Given the description of an element on the screen output the (x, y) to click on. 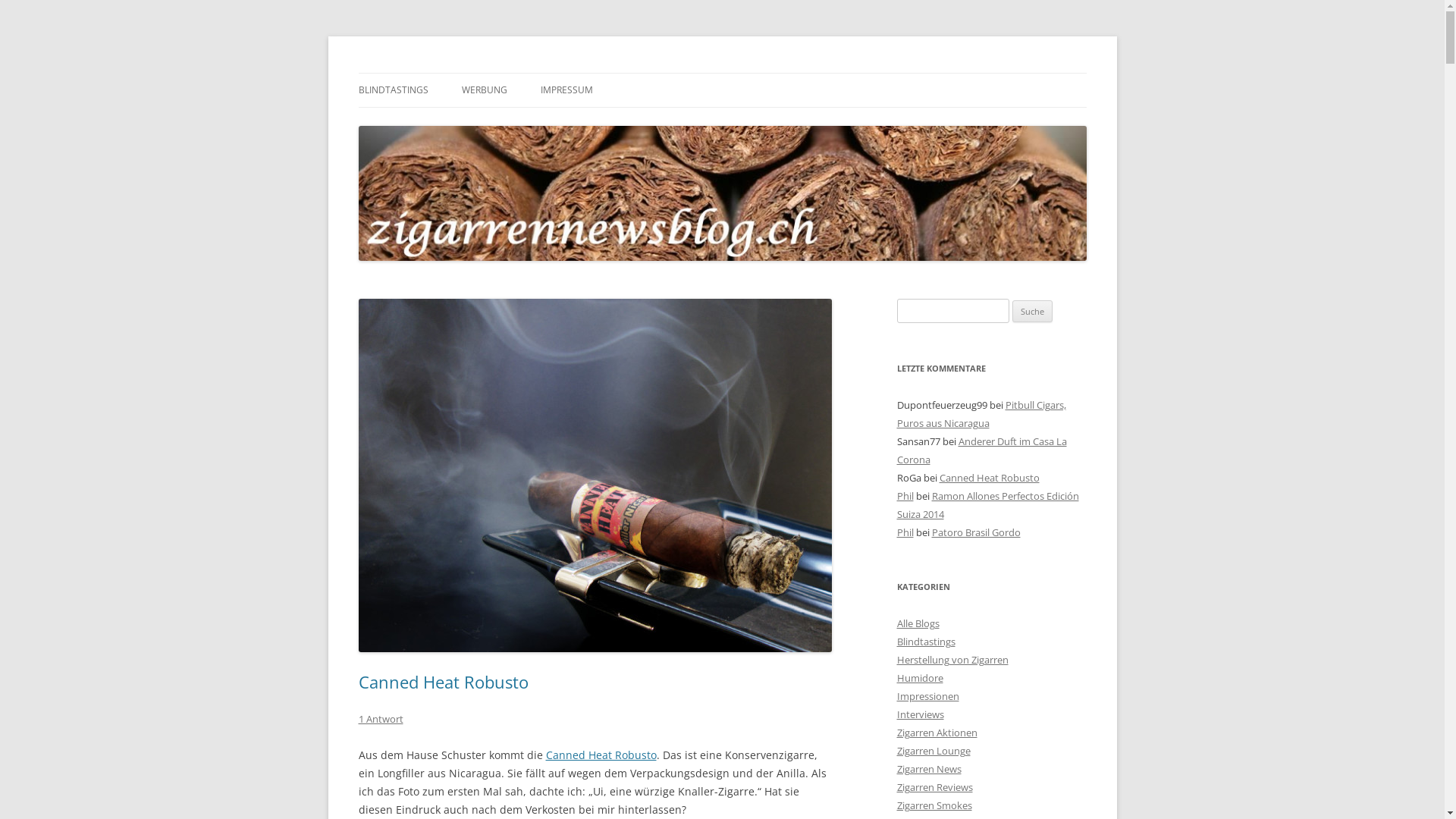
Zigarren News Blog Element type: text (407, 59)
1 Antwort Element type: text (379, 718)
Interviews Element type: text (919, 714)
Suche Element type: text (1032, 311)
Herstellung von Zigarren Element type: text (951, 659)
Alle Blogs Element type: text (917, 623)
BLINDTASTINGS Element type: text (392, 89)
Impressionen Element type: text (927, 695)
Canned Heat Robusto Element type: text (442, 681)
Phil Element type: text (904, 532)
Zigarren Lounge Element type: text (932, 750)
Zigarren News Element type: text (928, 768)
Blindtastings Element type: text (925, 641)
Zigarren Aktionen Element type: text (936, 732)
Humidore Element type: text (919, 677)
Anderer Duft im Casa La Corona Element type: text (981, 450)
Zigarren Reviews Element type: text (934, 786)
Zigarren News Blog|Canned Heat Robusto Element type: hover (594, 475)
Phil Element type: text (904, 495)
IMPRESSUM Element type: text (565, 89)
WERBUNG Element type: text (483, 89)
Canned Heat Robusto Element type: text (988, 477)
Zum Inhalt springen Element type: text (721, 72)
Canned Heat Robusto Element type: text (601, 754)
Pitbull Cigars, Puros aus Nicaragua Element type: text (980, 413)
Zigarren Smokes Element type: text (933, 805)
Patoro Brasil Gordo Element type: text (975, 532)
